Given the description of an element on the screen output the (x, y) to click on. 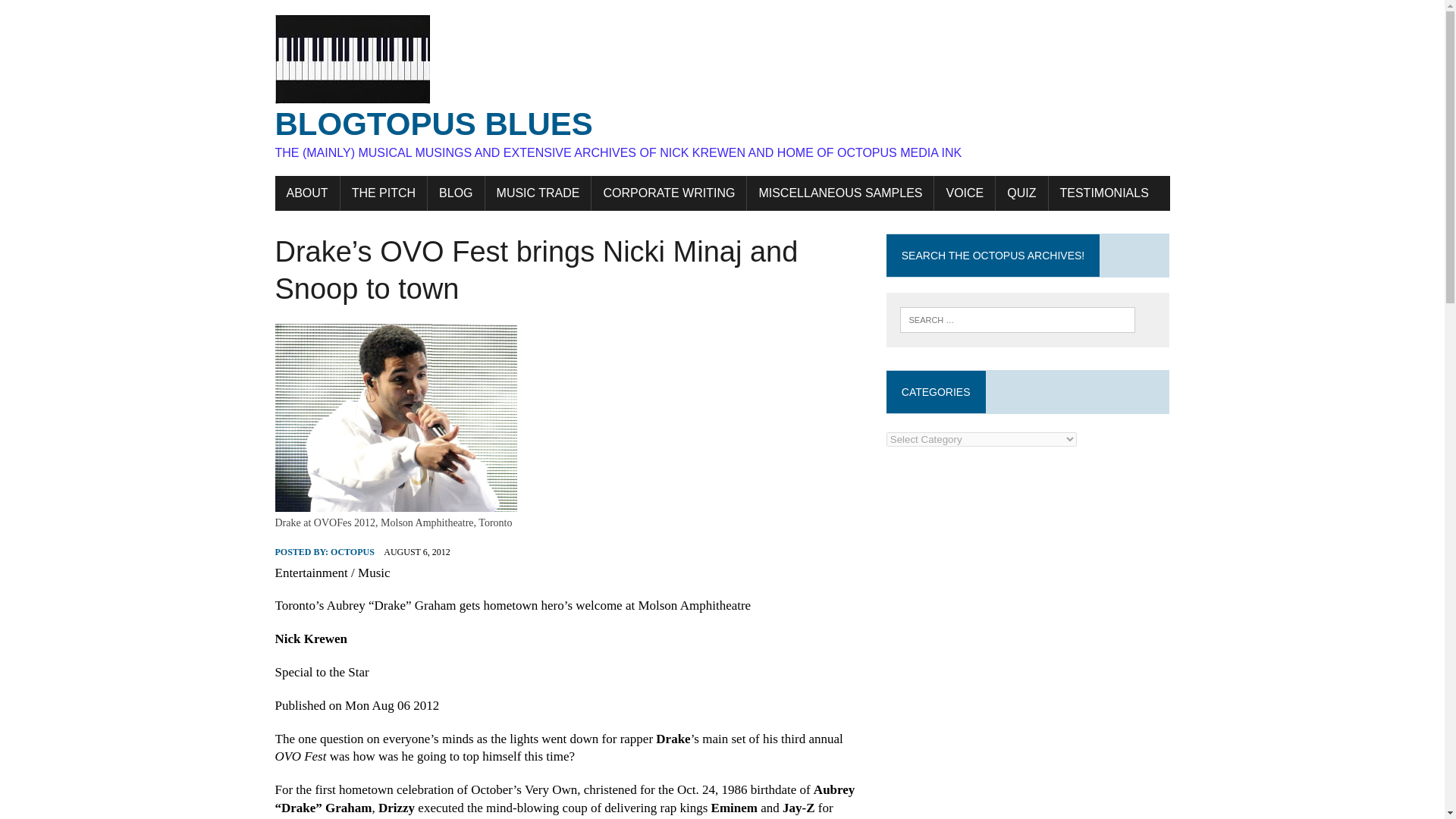
BLOG (455, 193)
Commentary: Rock of Ages (455, 193)
THE PITCH (383, 193)
MUSIC TRADE (537, 193)
ABOUT (307, 193)
Blogtopus Blues (722, 87)
